Given the description of an element on the screen output the (x, y) to click on. 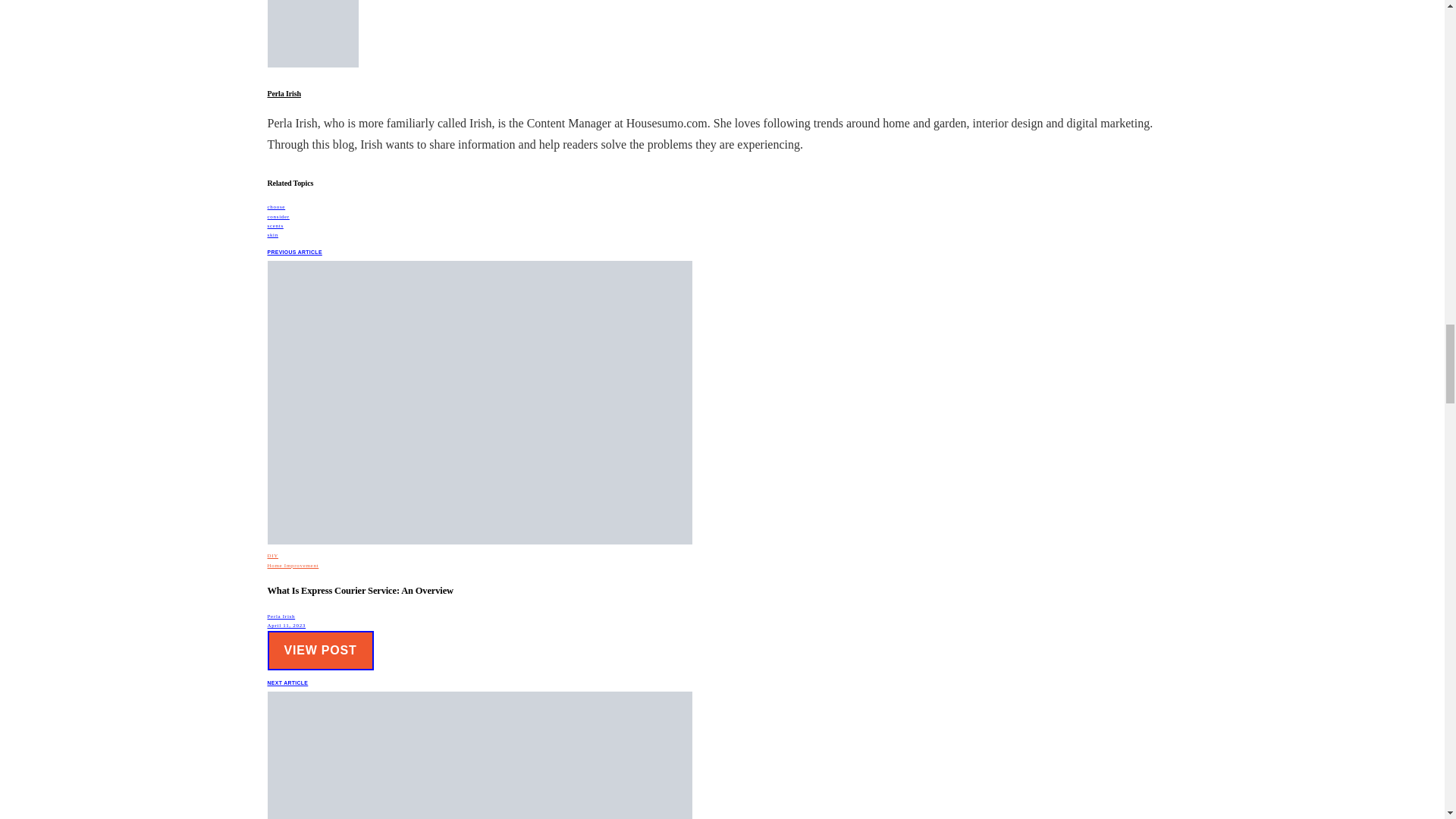
View all posts by Perla Irish (280, 616)
